Given the description of an element on the screen output the (x, y) to click on. 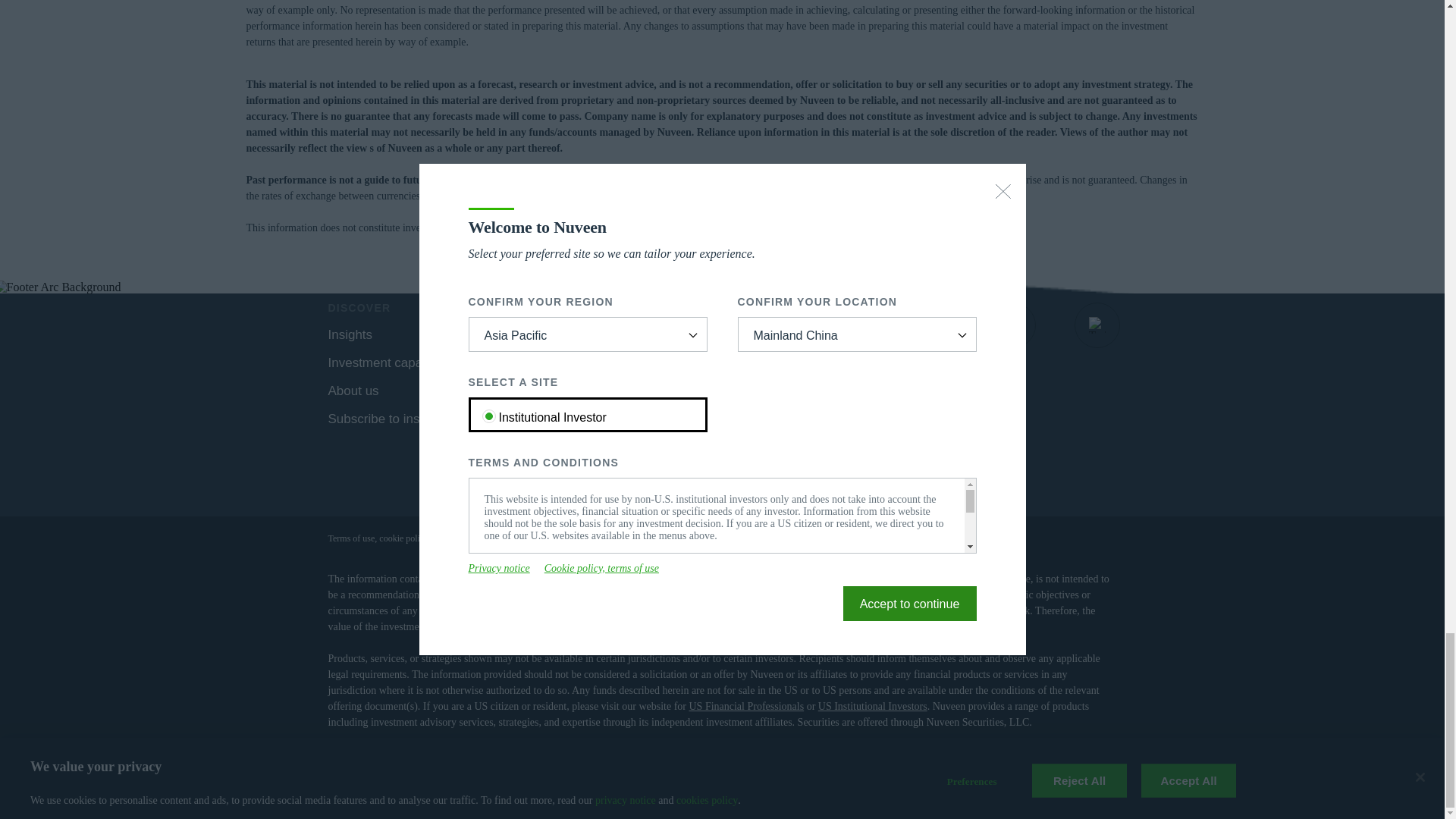
opens in a new window (508, 390)
opens in a new window (928, 325)
opens in a new window (1097, 325)
opens in a new window (1013, 325)
opens in a new window (845, 325)
